Given the description of an element on the screen output the (x, y) to click on. 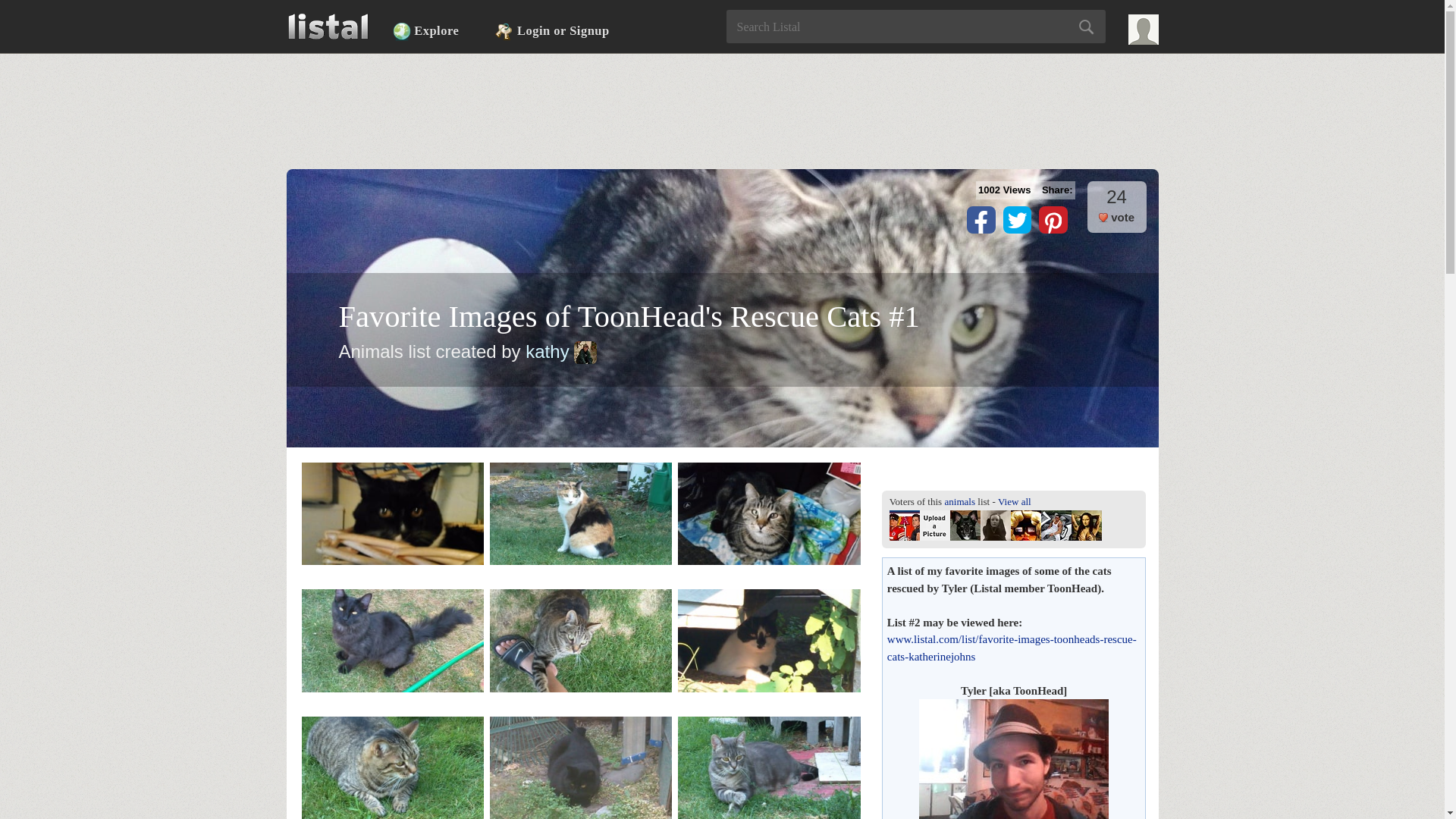
Avatar (584, 352)
 Georgini (904, 525)
Jason  (935, 525)
ChihuahuaDaddy (964, 525)
Marek (1056, 525)
Avatar (1143, 29)
vixen (1086, 525)
Paloma1996 (994, 525)
Explore (425, 31)
milica (1025, 525)
